Given the description of an element on the screen output the (x, y) to click on. 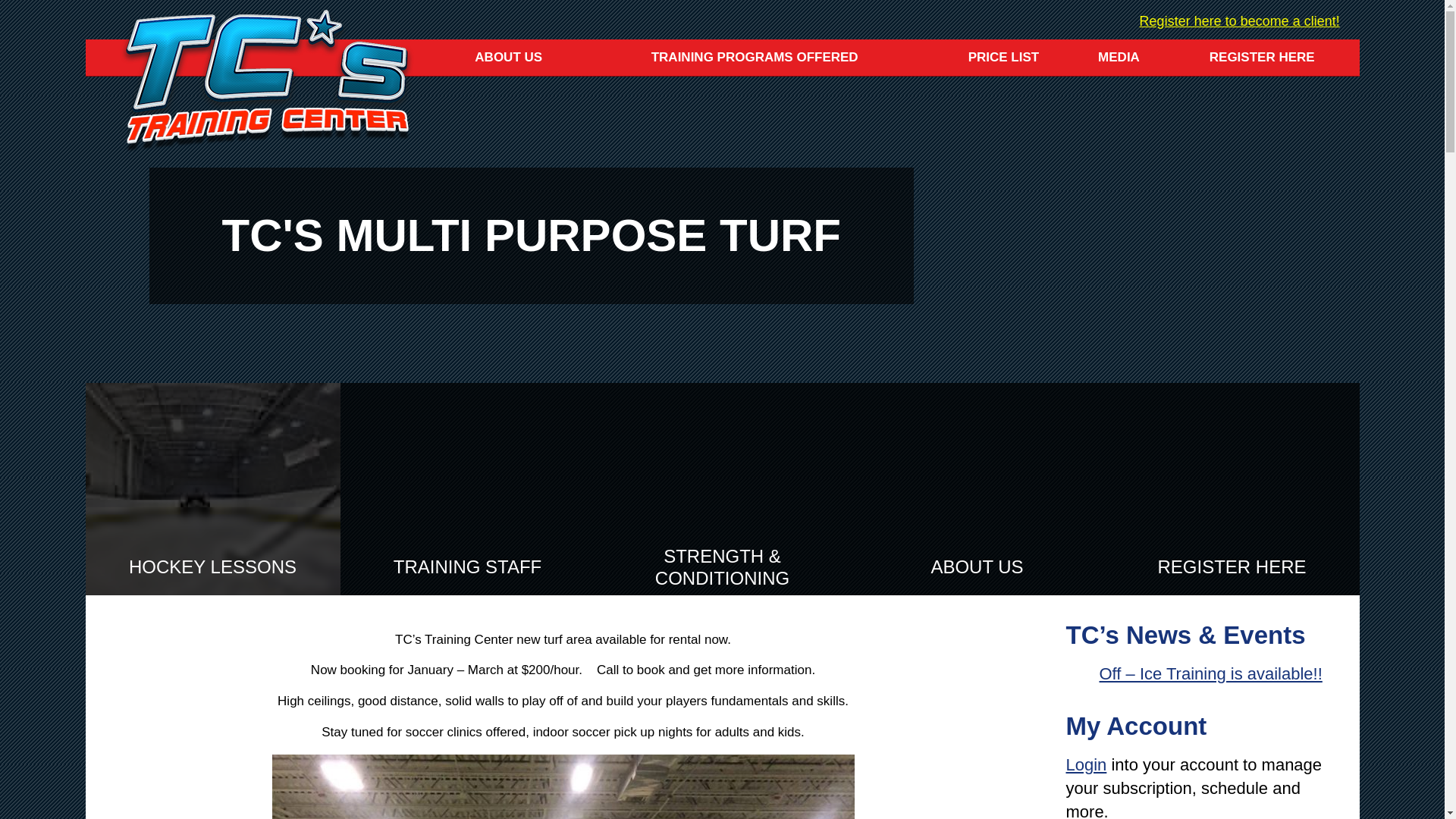
Login (1085, 764)
ABOUT US (508, 57)
MEDIA (1118, 57)
TRAINING PROGRAMS OFFERED (754, 57)
PRICE LIST (1003, 57)
REGISTER HERE (1261, 57)
